Given the description of an element on the screen output the (x, y) to click on. 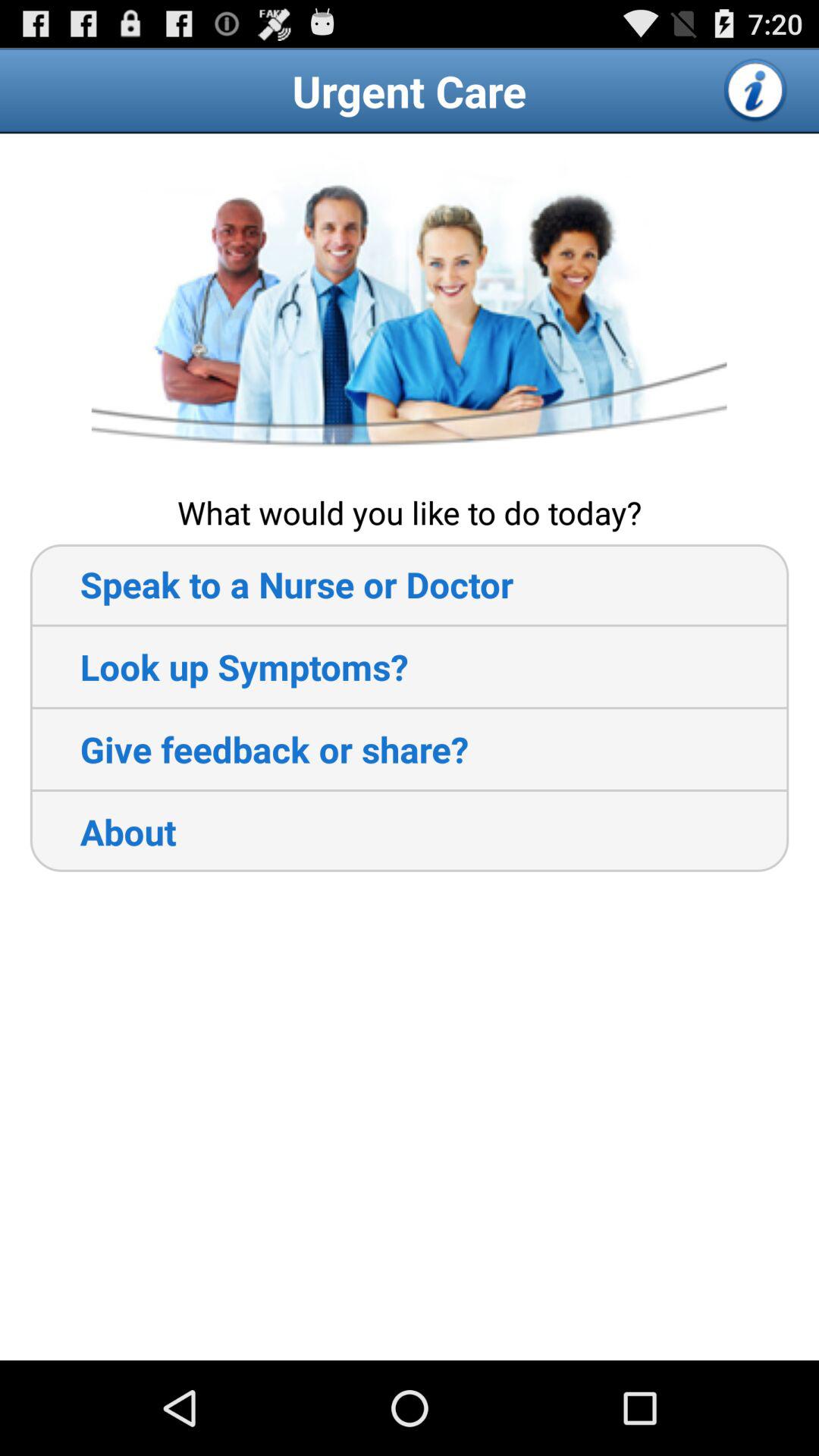
click app below speak to a icon (219, 666)
